Given the description of an element on the screen output the (x, y) to click on. 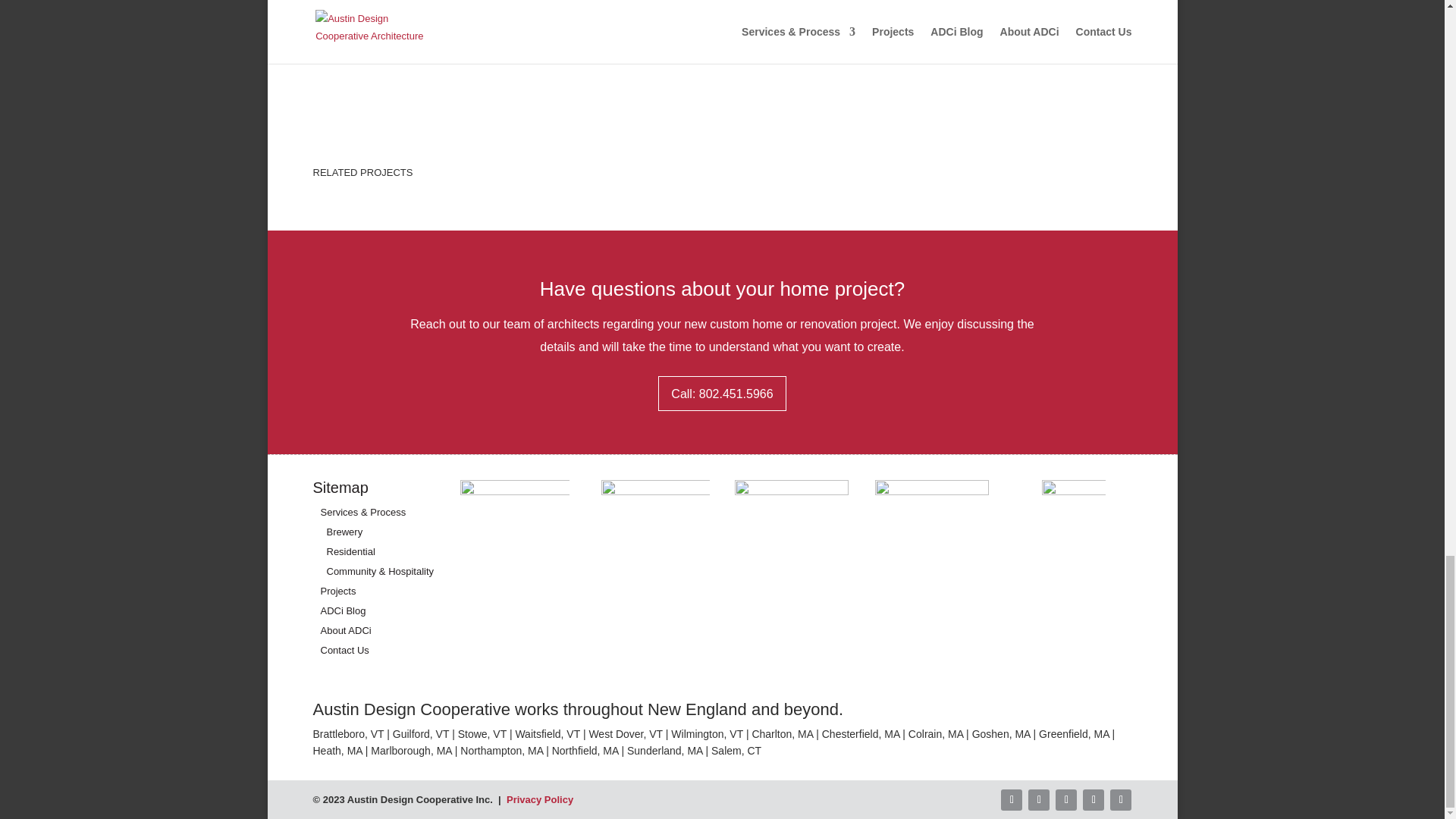
aia-logo-trans (514, 534)
vbsrlogo-proudmember (931, 538)
fccc-mass (791, 538)
NESEA-logo (655, 535)
Call: 802.451.5966 (722, 392)
